Given the description of an element on the screen output the (x, y) to click on. 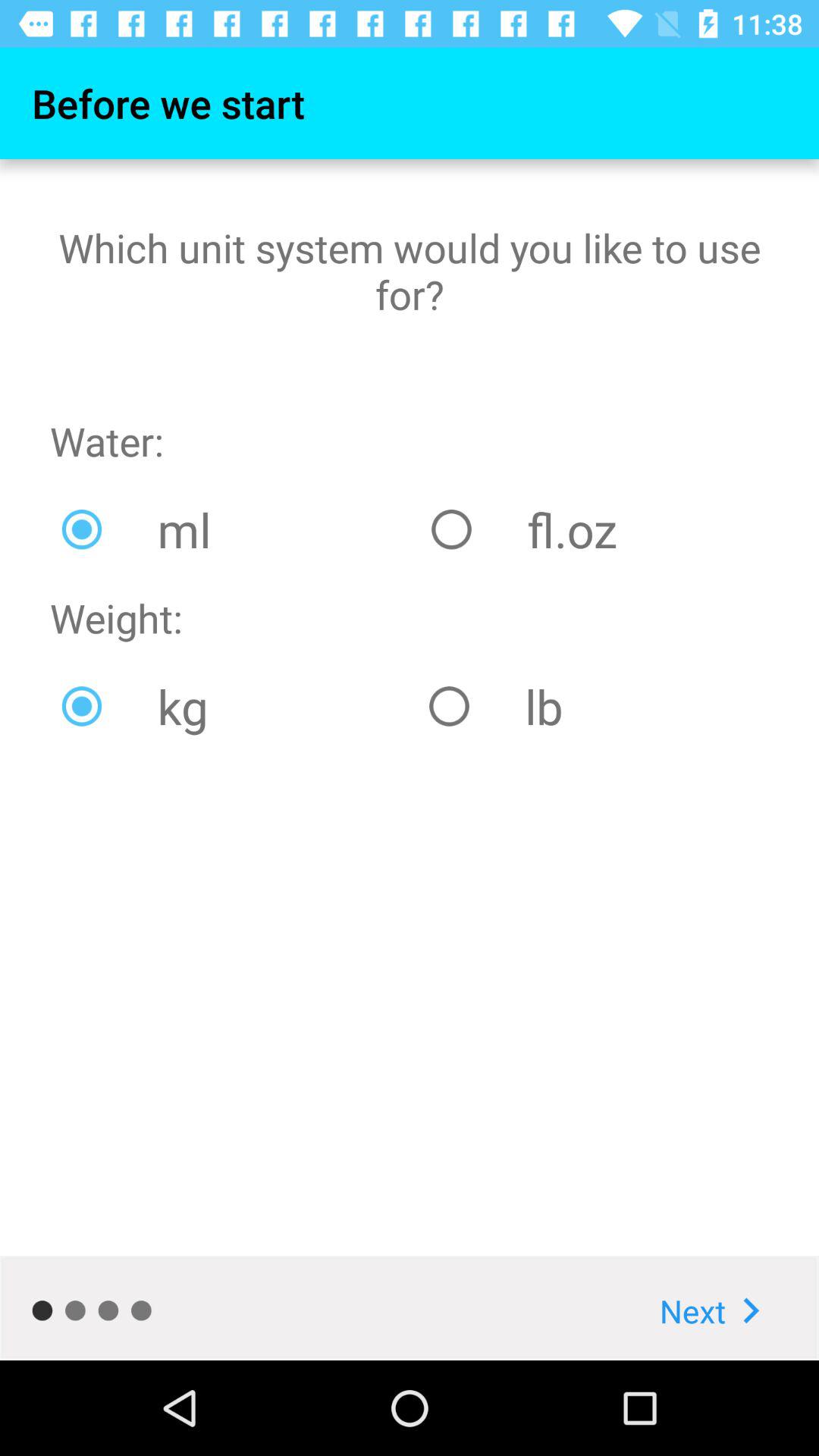
open lb item (592, 706)
